Given the description of an element on the screen output the (x, y) to click on. 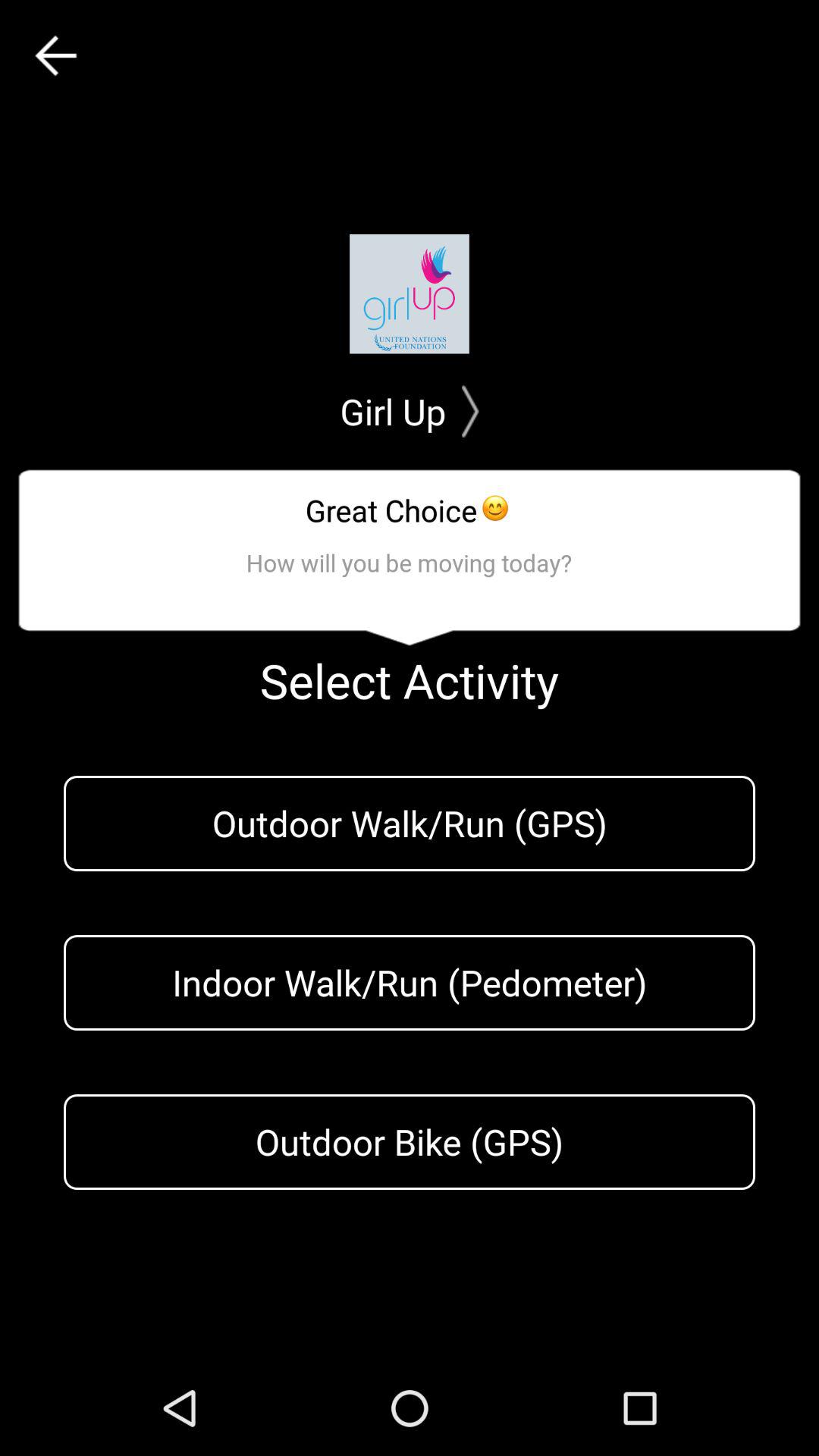
select the icon at the top left corner (55, 55)
